Given the description of an element on the screen output the (x, y) to click on. 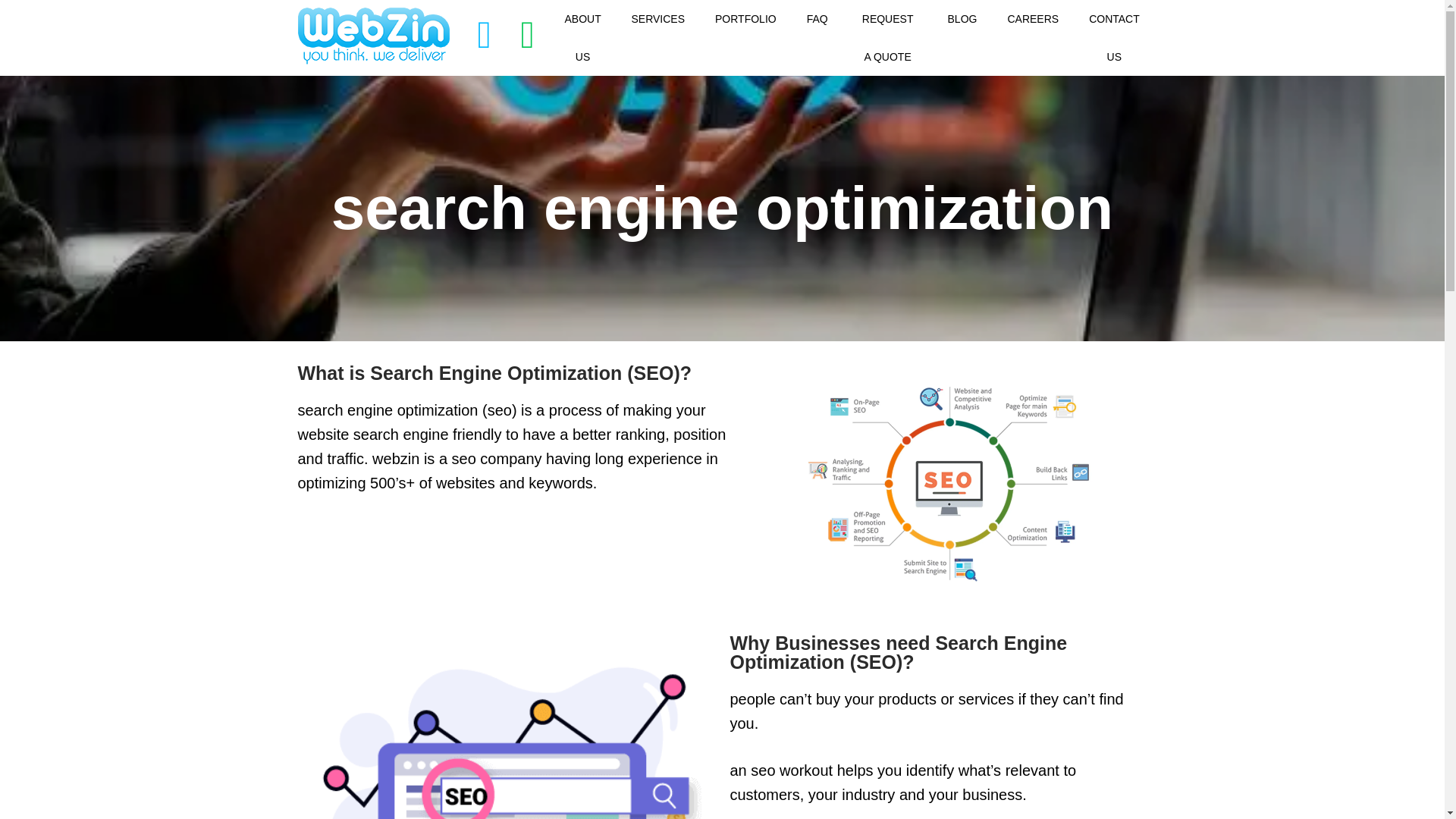
REQUEST A QUOTE (888, 38)
CONTACT US (1114, 38)
BLOG (962, 18)
FAQ (817, 18)
PORTFOLIO (746, 18)
skip to content (11, 31)
CAREERS (1032, 18)
SERVICES (657, 18)
